Given the description of an element on the screen output the (x, y) to click on. 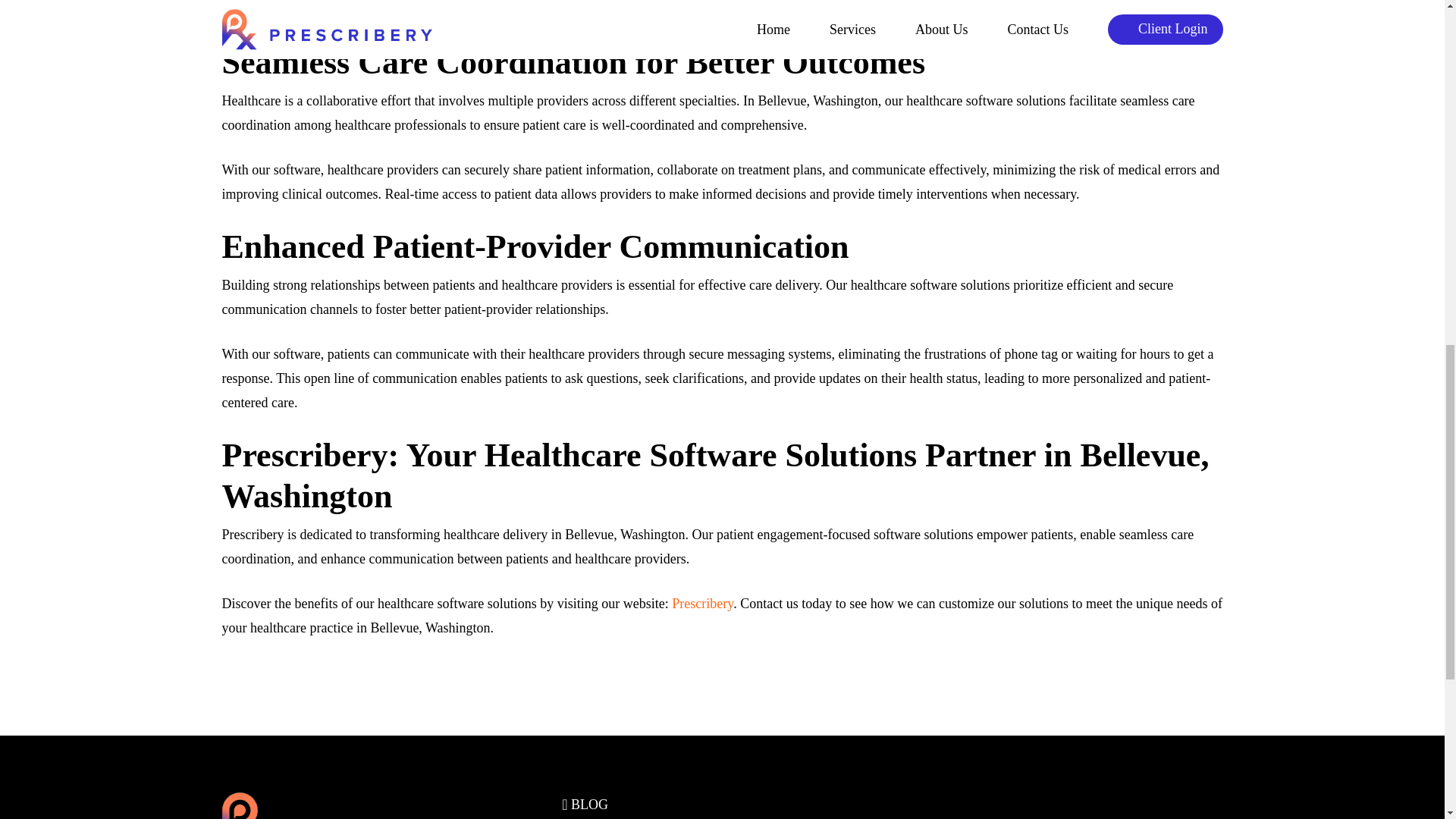
BLOG (585, 804)
Prescribery (702, 603)
